Given the description of an element on the screen output the (x, y) to click on. 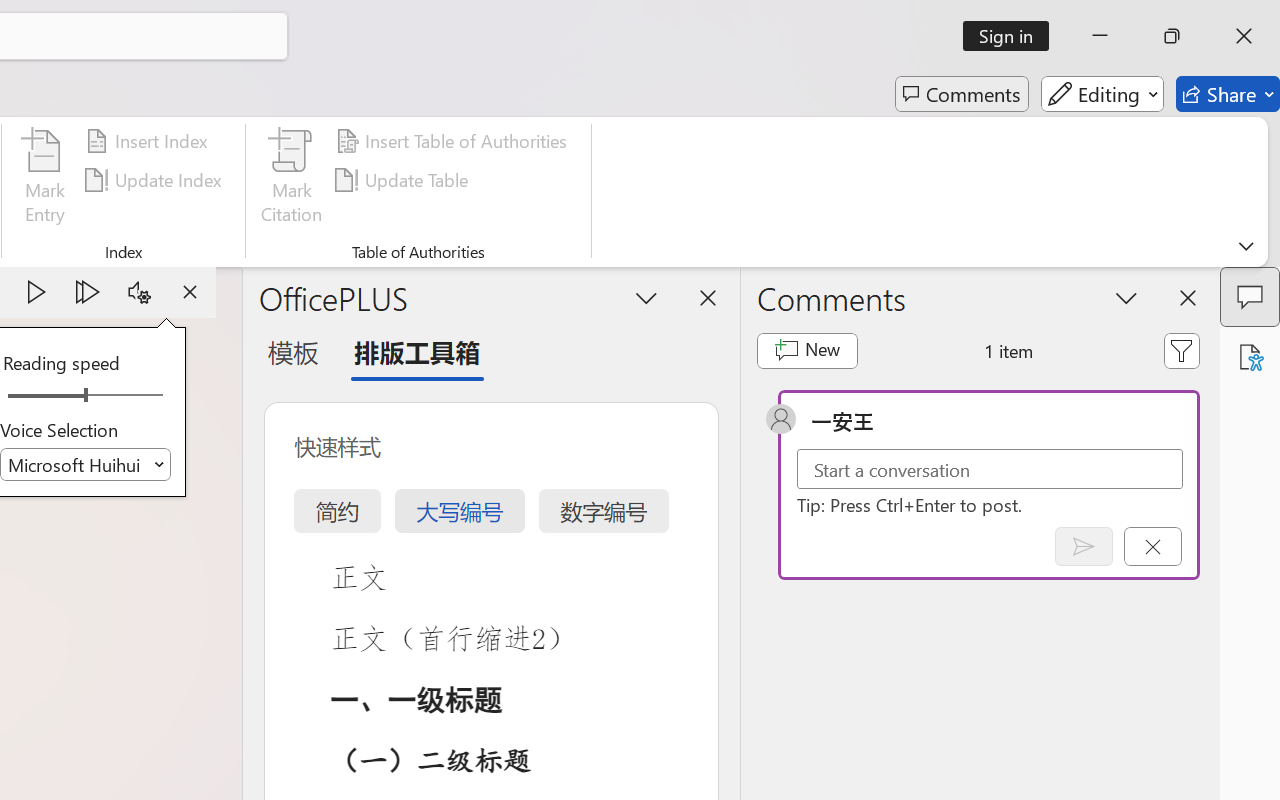
Mark Citation... (292, 179)
Filter (1181, 350)
Play (36, 292)
Page right (129, 395)
Insert Index... (149, 141)
Update Table (404, 179)
Start a conversation (990, 468)
Accessibility Assistant (1249, 357)
Cancel (1152, 546)
